Given the description of an element on the screen output the (x, y) to click on. 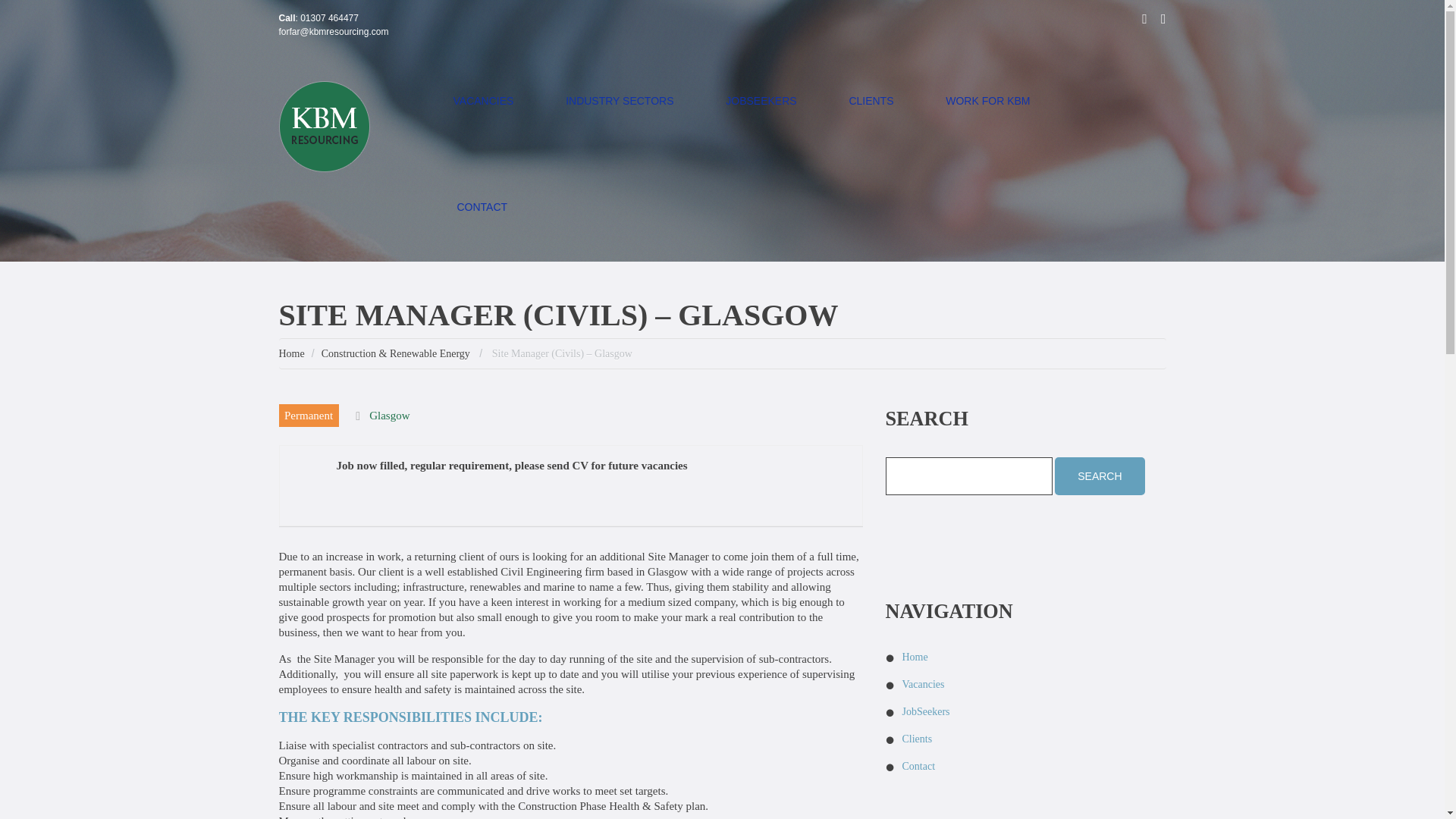
Contact (919, 766)
search (1099, 476)
Home (915, 656)
Glasgow (389, 415)
WORK FOR KBM (987, 102)
Vacancies (923, 684)
Clients (917, 738)
search (1099, 476)
CLIENTS (870, 102)
INDUSTRY SECTORS (619, 102)
VACANCIES (483, 102)
JobSeekers (926, 711)
CONTACT (481, 208)
Home (291, 353)
search (1099, 476)
